Given the description of an element on the screen output the (x, y) to click on. 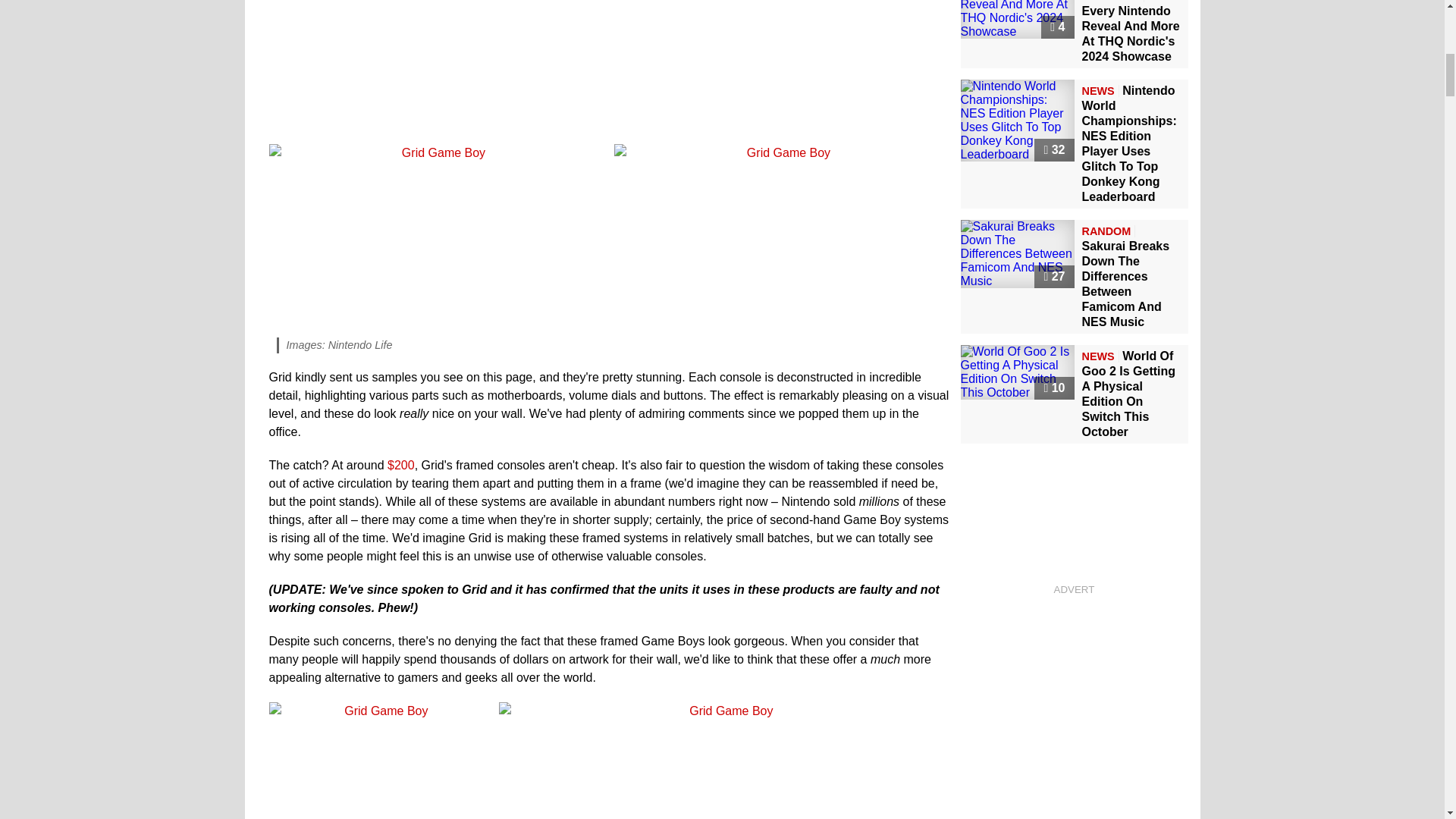
Grid Game Boy (436, 68)
